Given the description of an element on the screen output the (x, y) to click on. 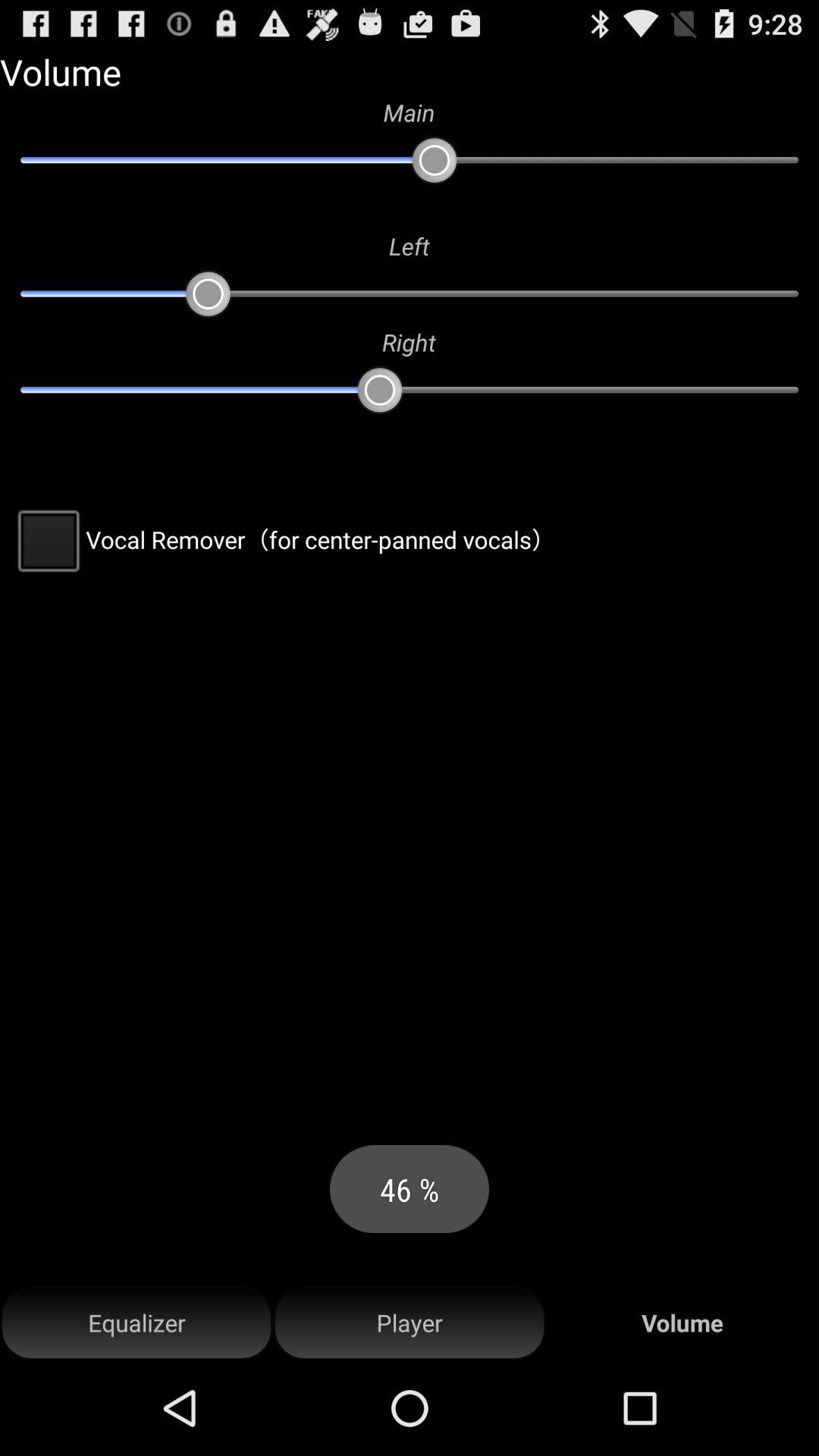
turn off the player button (409, 1323)
